Given the description of an element on the screen output the (x, y) to click on. 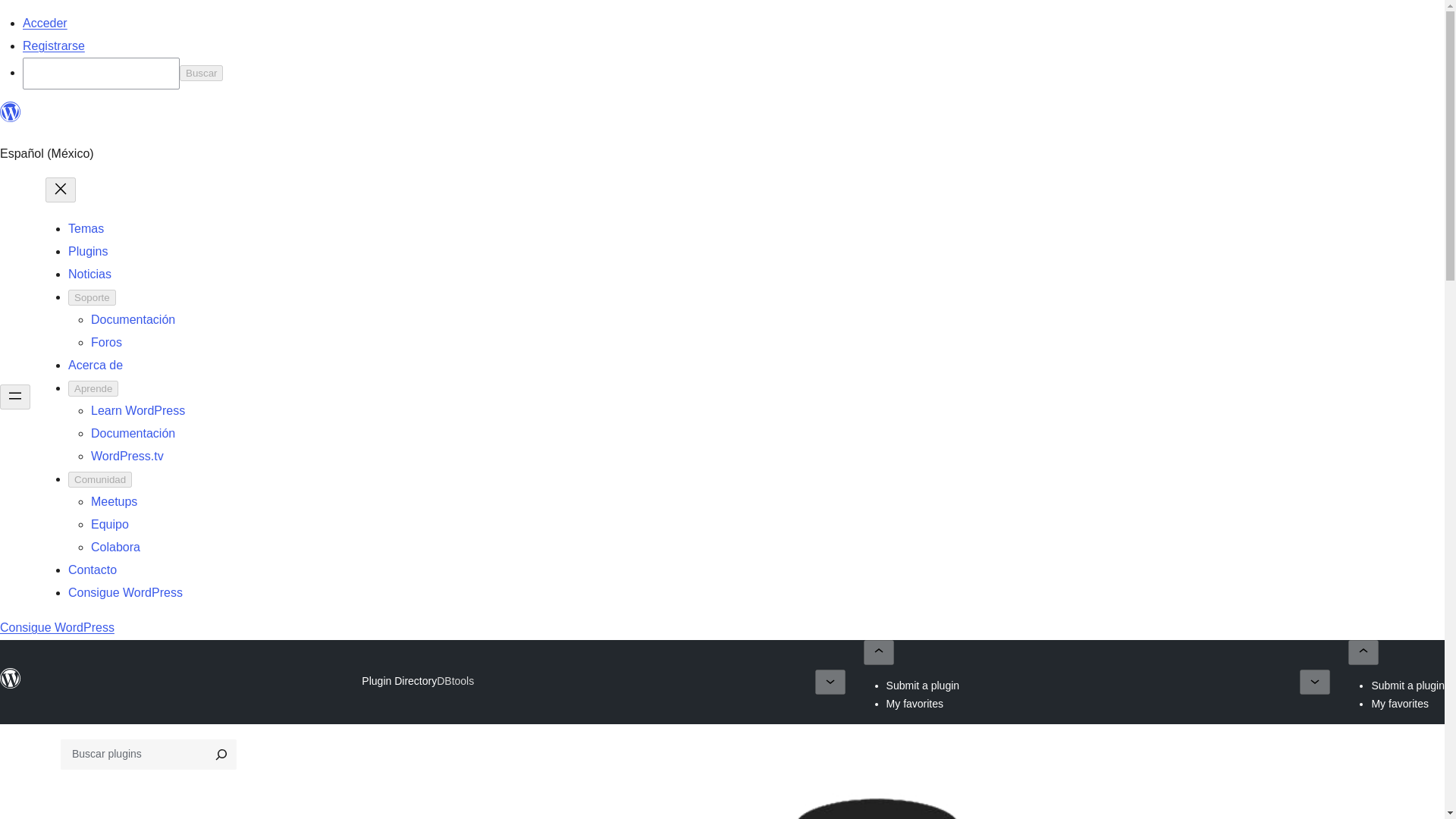
WordPress.org (10, 111)
Learn WordPress (137, 410)
Comunidad (100, 479)
Noticias (90, 273)
Submit a plugin (922, 685)
Temas (85, 228)
Acceder (44, 22)
Soporte (92, 297)
My favorites (914, 703)
Aprende (92, 388)
WordPress.org (10, 685)
Contacto (92, 569)
Buscar (200, 73)
WordPress.tv (126, 455)
Plugin Directory (398, 680)
